Given the description of an element on the screen output the (x, y) to click on. 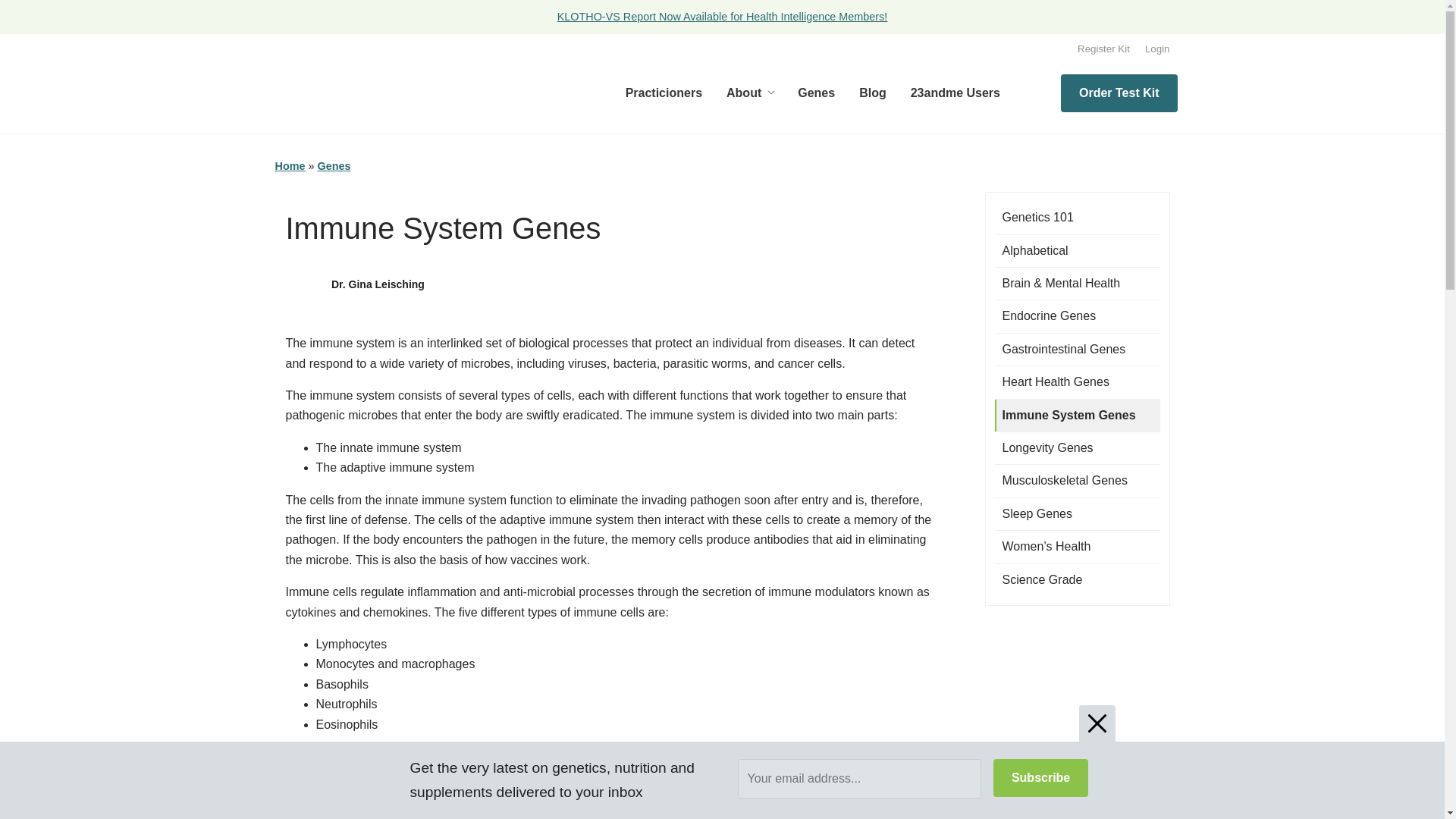
Alphabetical (1077, 250)
Science Grade (1077, 580)
23andme Users (954, 93)
Login (1157, 49)
Musculoskeletal Genes (1077, 480)
Sleep Genes (1077, 513)
Order Test Kit (1119, 93)
About (750, 93)
Endocrine Genes (1077, 316)
Practicioners (663, 93)
Immune System Genes (1077, 415)
Genetics 101 (1077, 217)
Genes (333, 165)
Dr. Gina Leisching (378, 284)
